Given the description of an element on the screen output the (x, y) to click on. 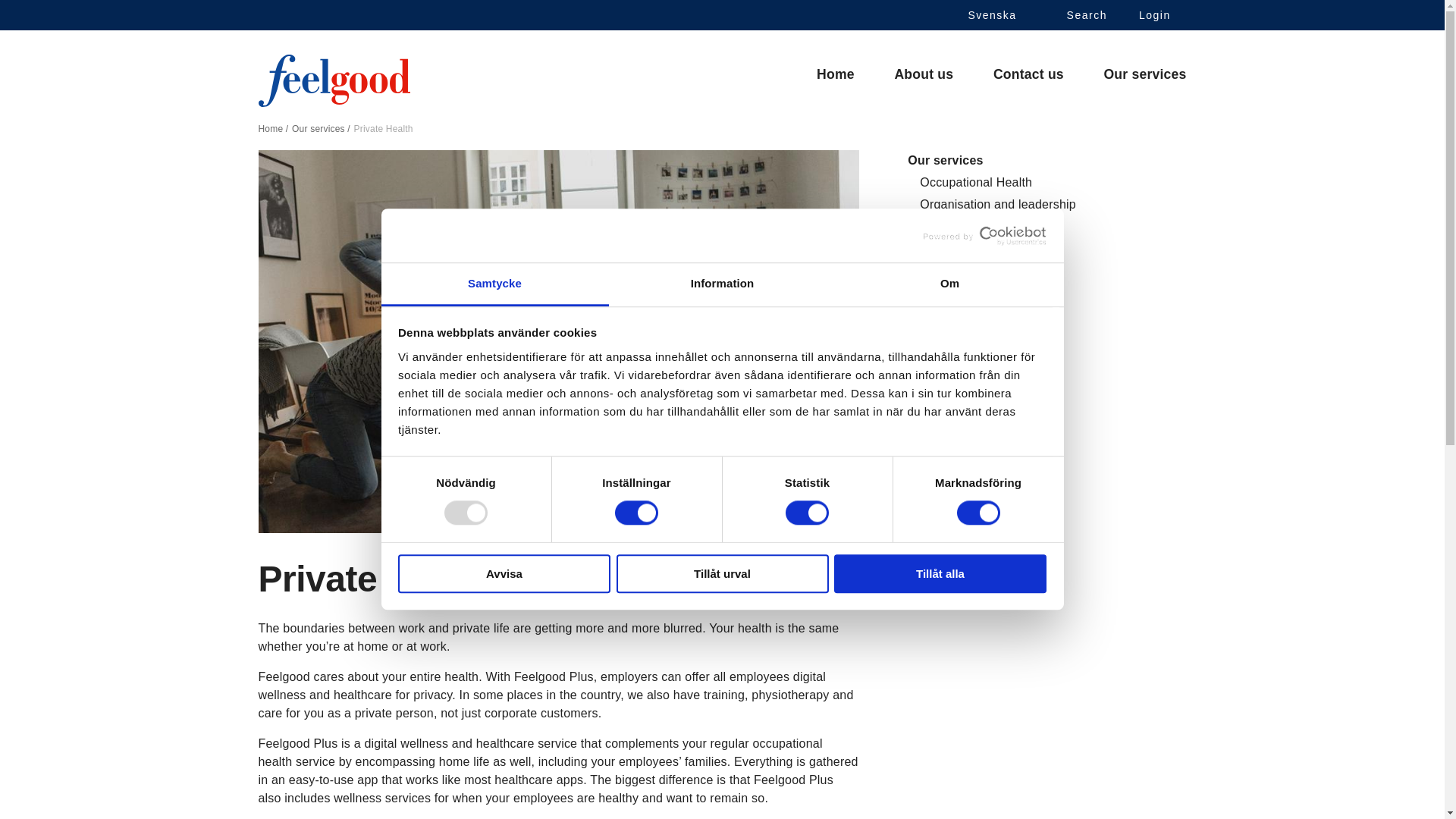
Avvisa (503, 573)
Information (721, 284)
Om (948, 284)
Samtycke (494, 284)
